Given the description of an element on the screen output the (x, y) to click on. 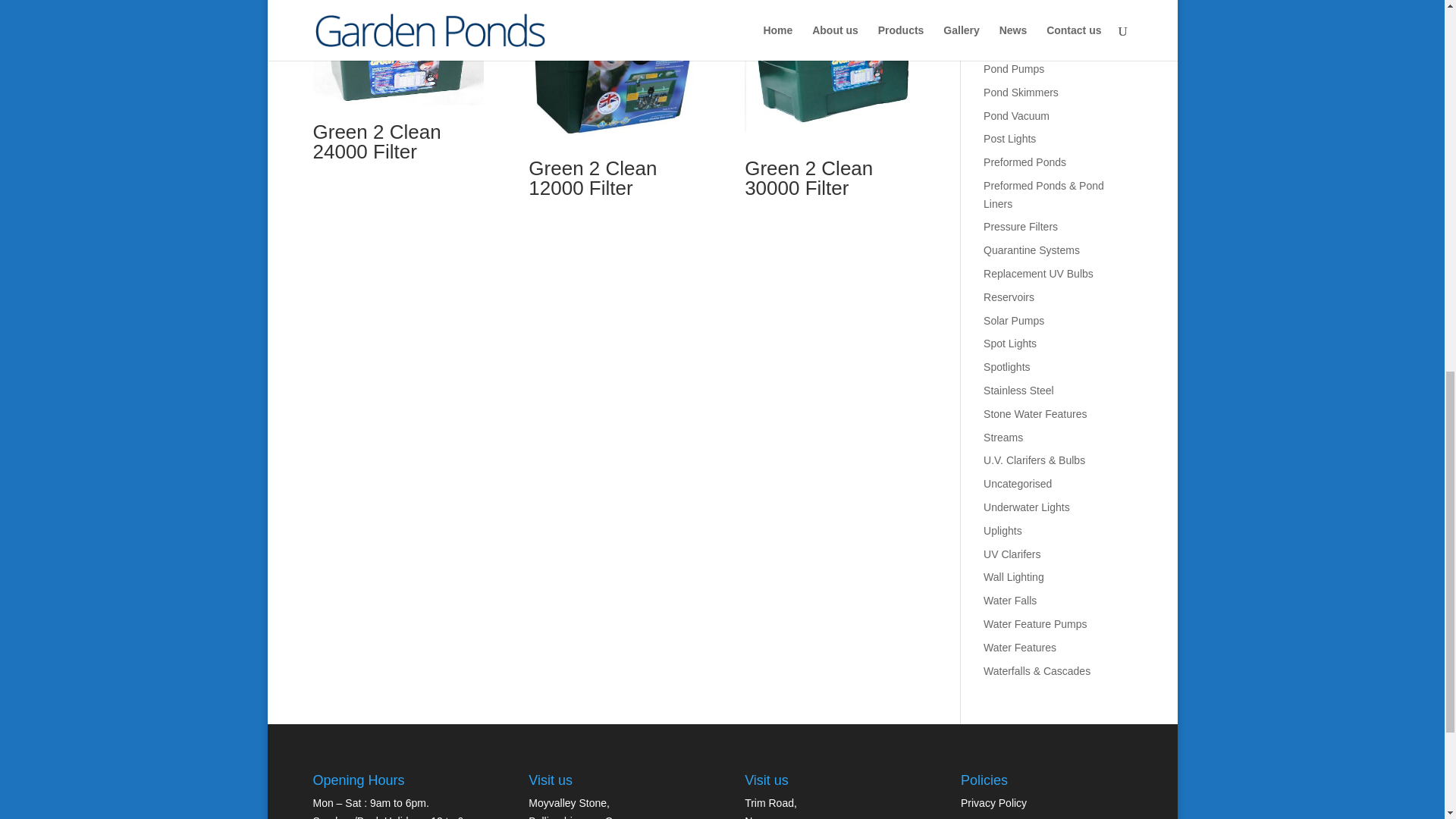
Green 2 Clean 12000 Filter (613, 103)
Green 2 Clean 30000 Filter (829, 103)
Green 2 Clean 24000 Filter (398, 85)
